Given the description of an element on the screen output the (x, y) to click on. 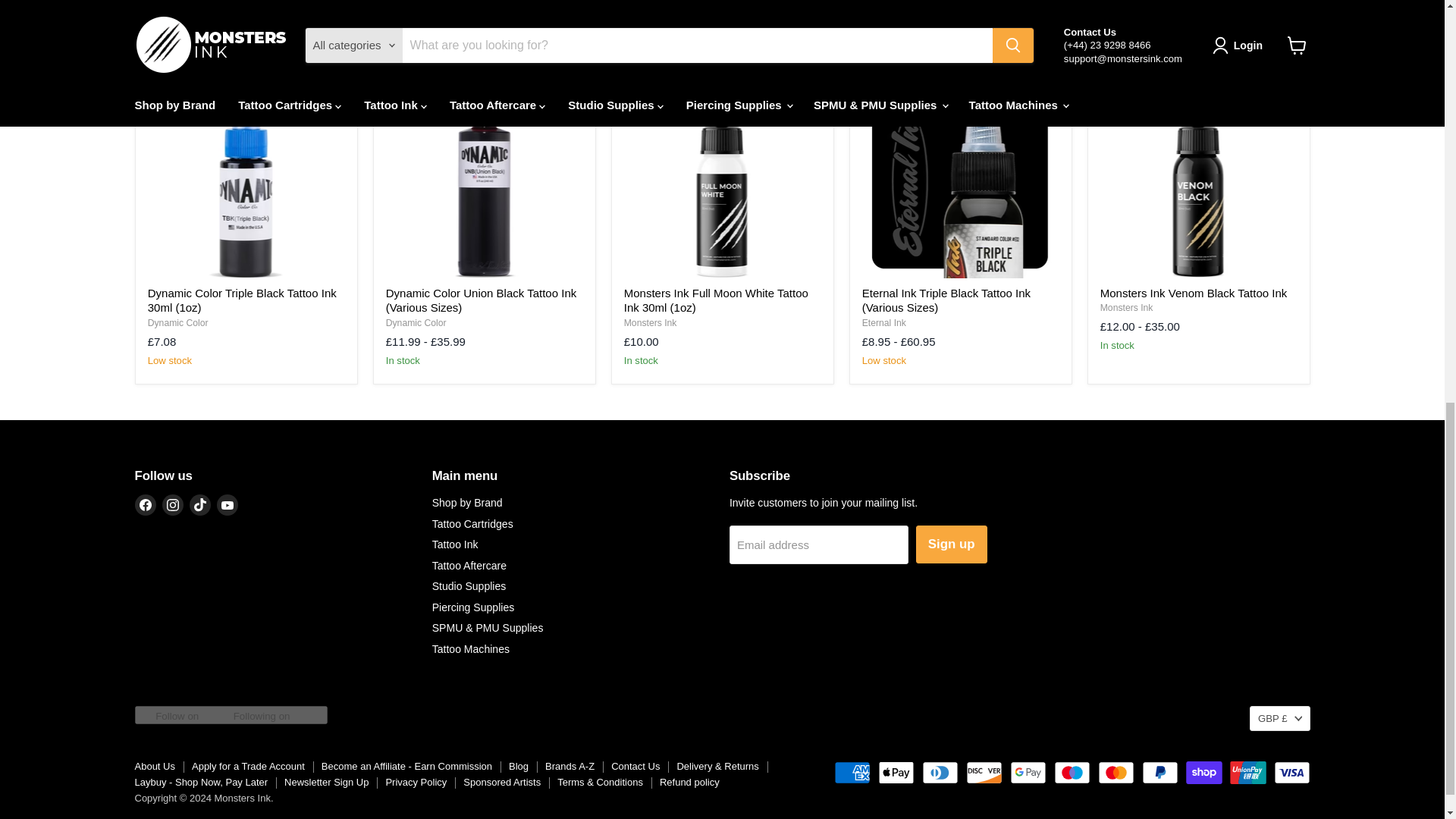
Eternal Ink (883, 322)
Monsters Ink (650, 322)
Dynamic Color (178, 322)
Monsters Ink (1126, 307)
Facebook (145, 504)
Dynamic Color (415, 322)
